Given the description of an element on the screen output the (x, y) to click on. 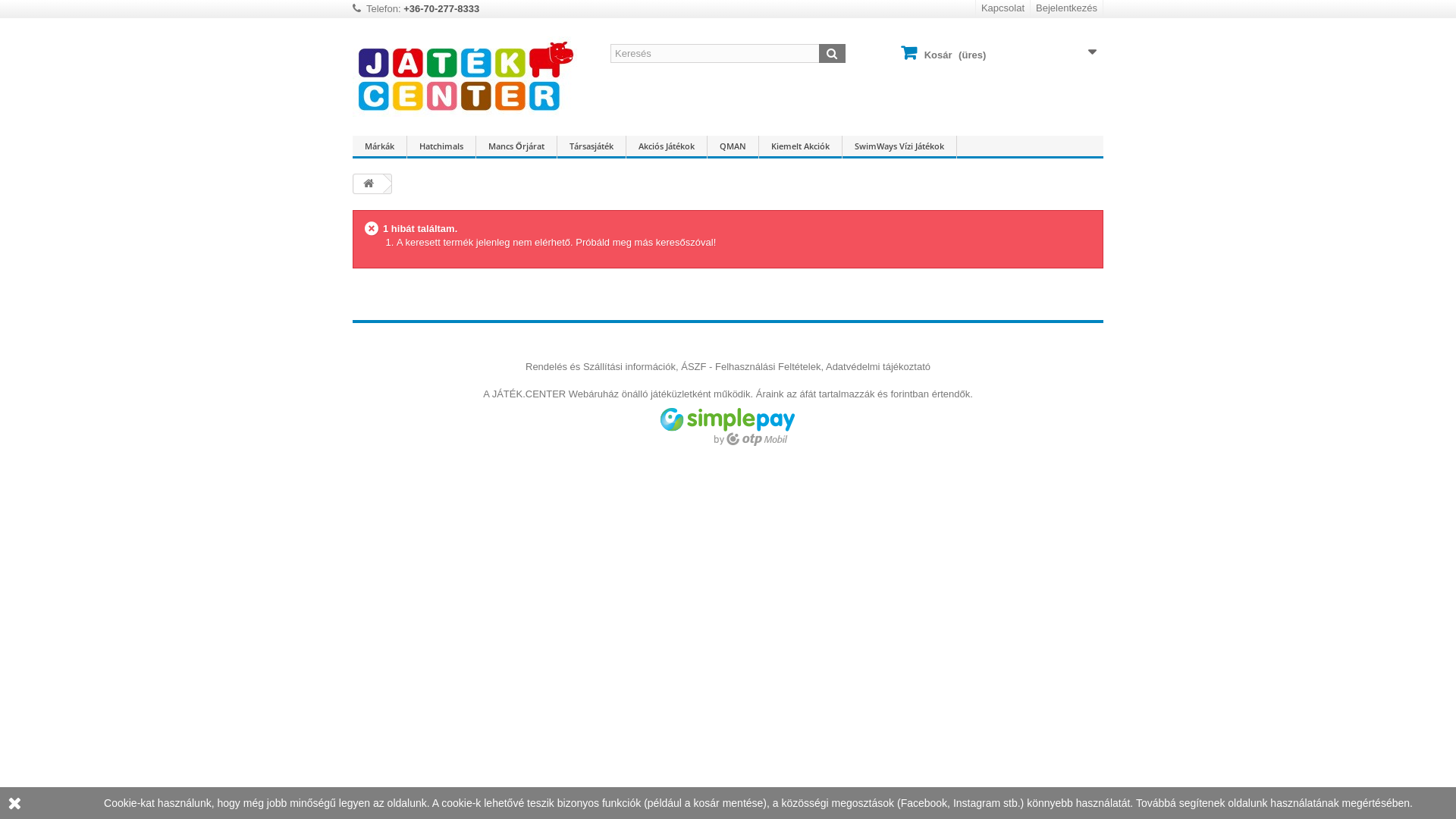
Kapcsolat Element type: text (1002, 8)
QMAN Element type: text (732, 146)
Hatchimals Element type: text (441, 146)
